Given the description of an element on the screen output the (x, y) to click on. 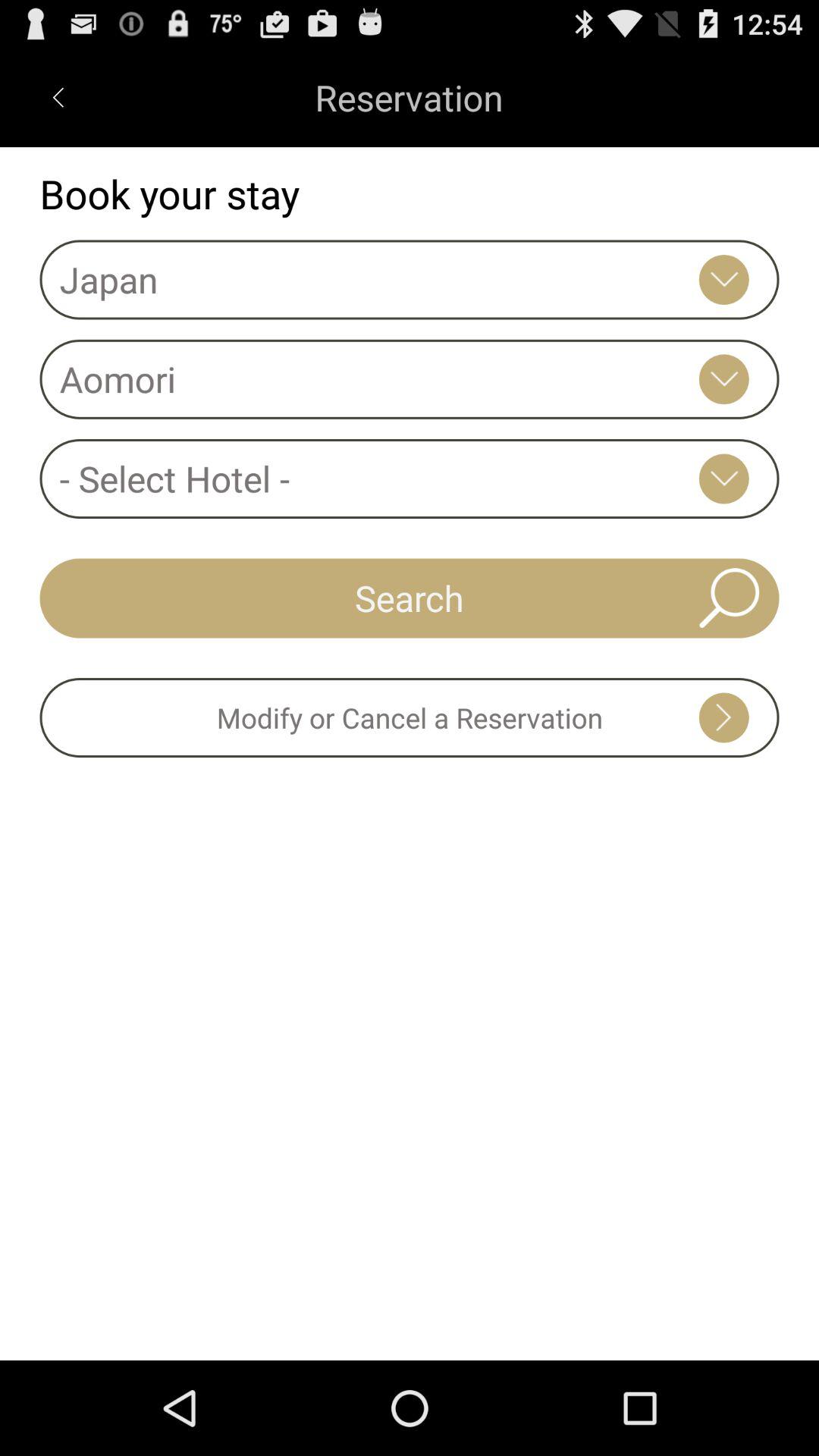
select the item above the book your stay item (57, 97)
